Given the description of an element on the screen output the (x, y) to click on. 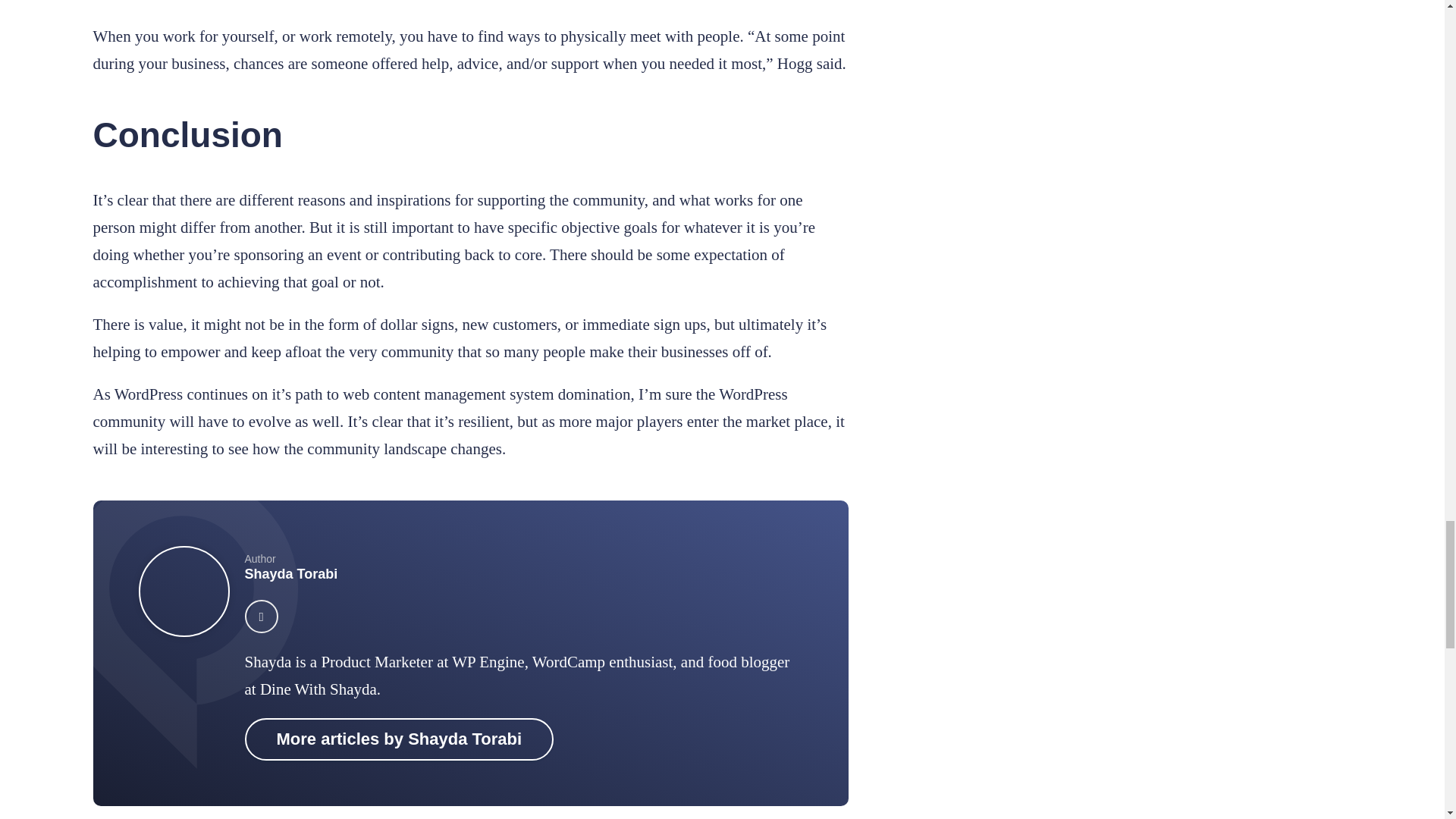
Shayda Torabi (290, 573)
More articles by Shayda Torabi (398, 739)
